Given the description of an element on the screen output the (x, y) to click on. 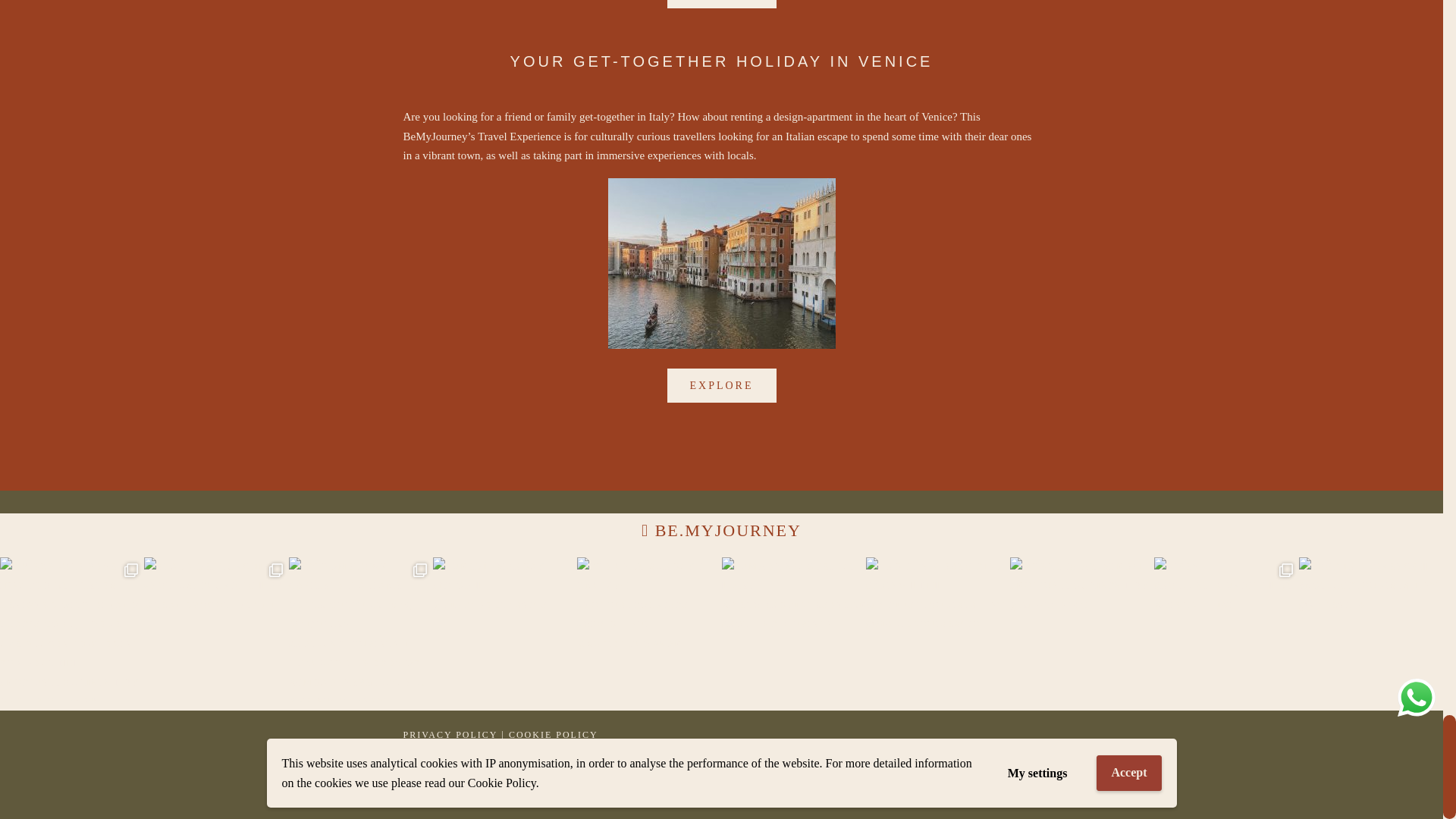
EXPLORE (721, 385)
FAQ (705, 756)
COOKIE POLICY (553, 736)
WEBSITE TERMS OF USE (470, 756)
BE.MYJOURNEY (728, 531)
TERMS AND CONDITION (616, 756)
WEB DEV (819, 787)
PRIVACY POLICY (450, 736)
EXPLORE (721, 4)
